Given the description of an element on the screen output the (x, y) to click on. 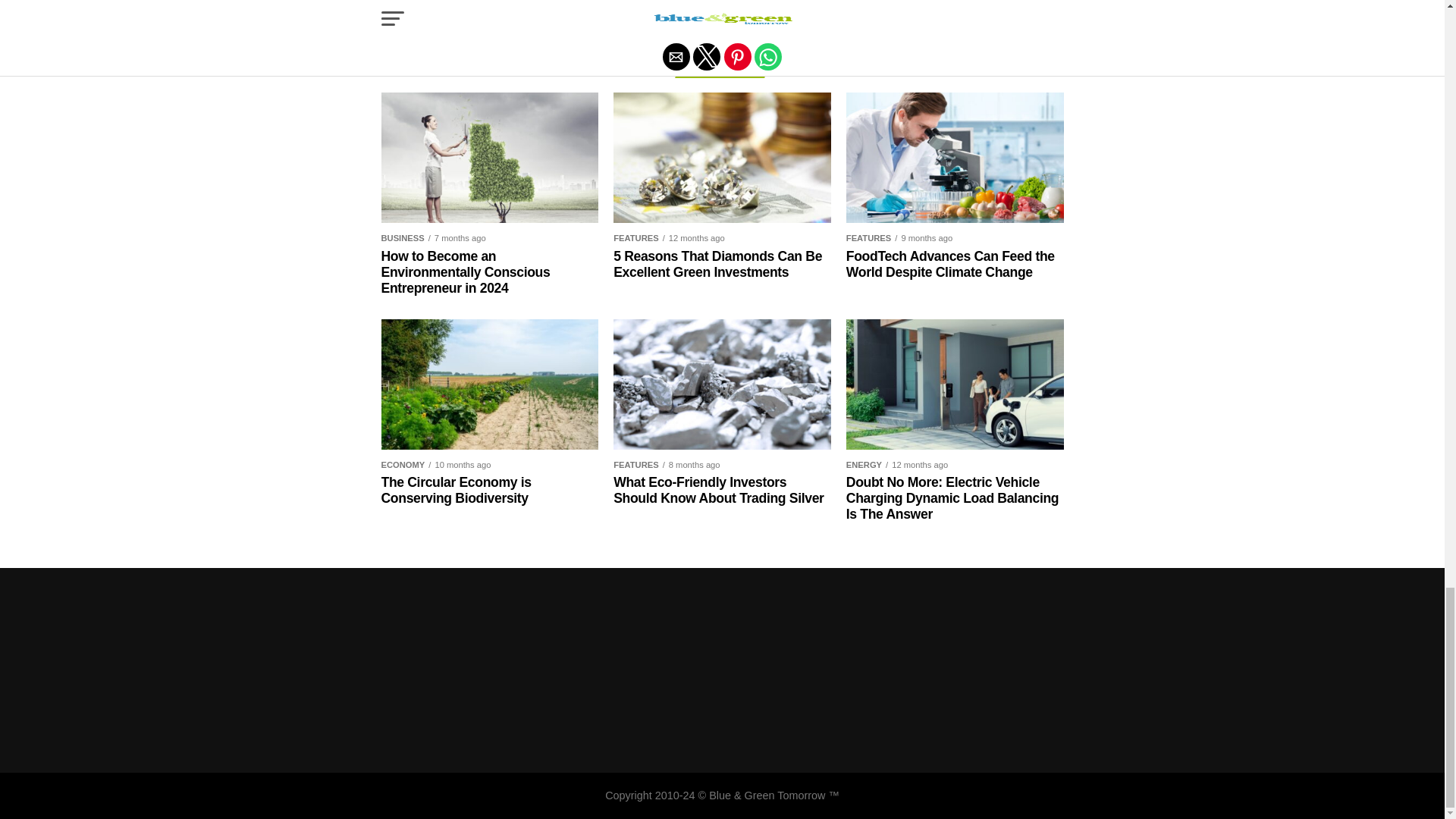
LEGALIZING CANNABIS (735, 3)
CANNABIS LEGISLATION (606, 3)
CANNABIS (506, 3)
